Given the description of an element on the screen output the (x, y) to click on. 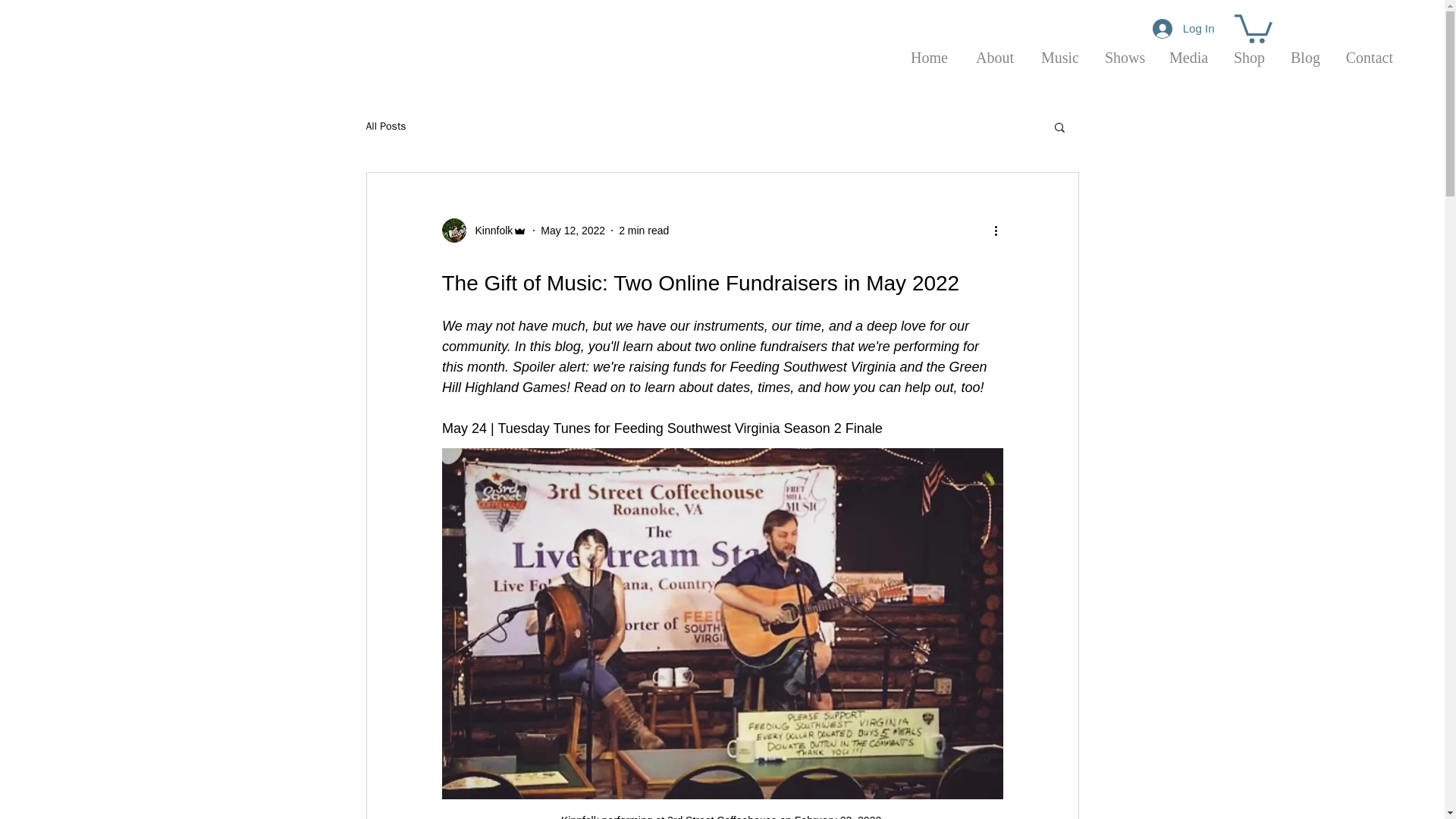
Media (1188, 50)
Contact (1369, 50)
2 min read (643, 230)
Log In (1183, 27)
Kinnfolk (484, 230)
KINNFOLK (146, 49)
Shop (1248, 50)
Blog (1304, 50)
Music (1058, 50)
Home (928, 50)
